Given the description of an element on the screen output the (x, y) to click on. 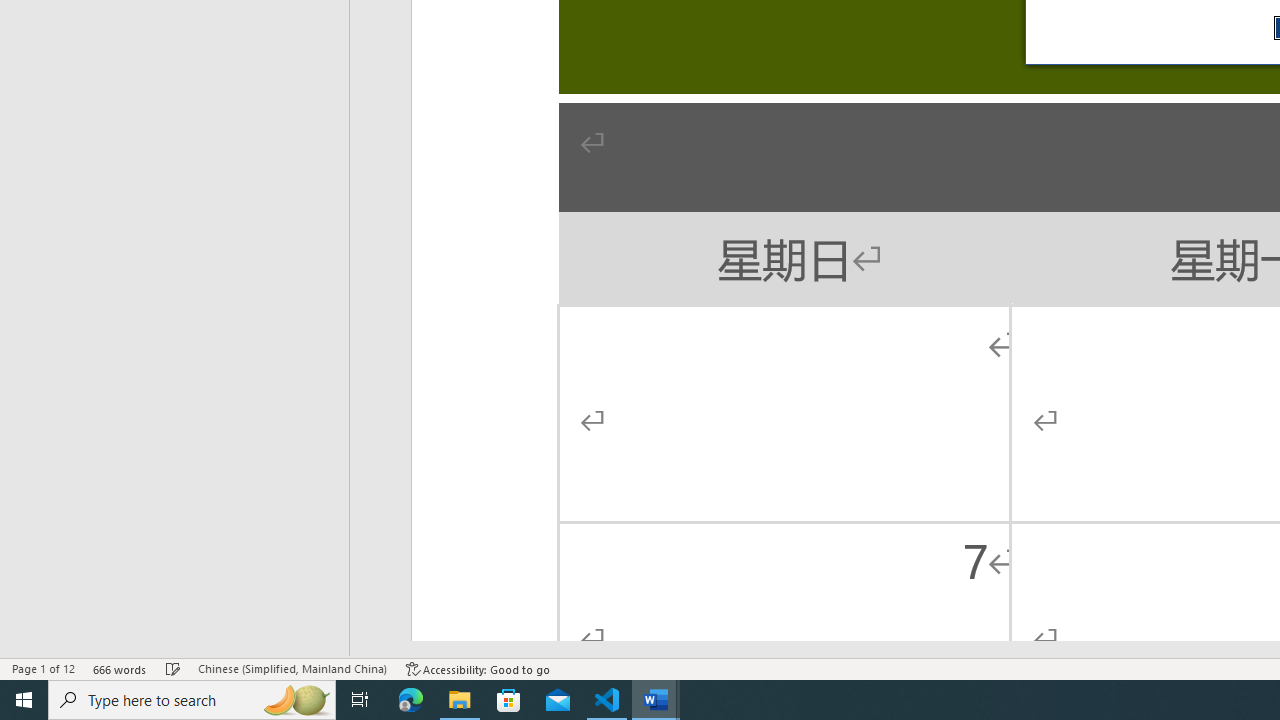
Type here to search (191, 699)
